Given the description of an element on the screen output the (x, y) to click on. 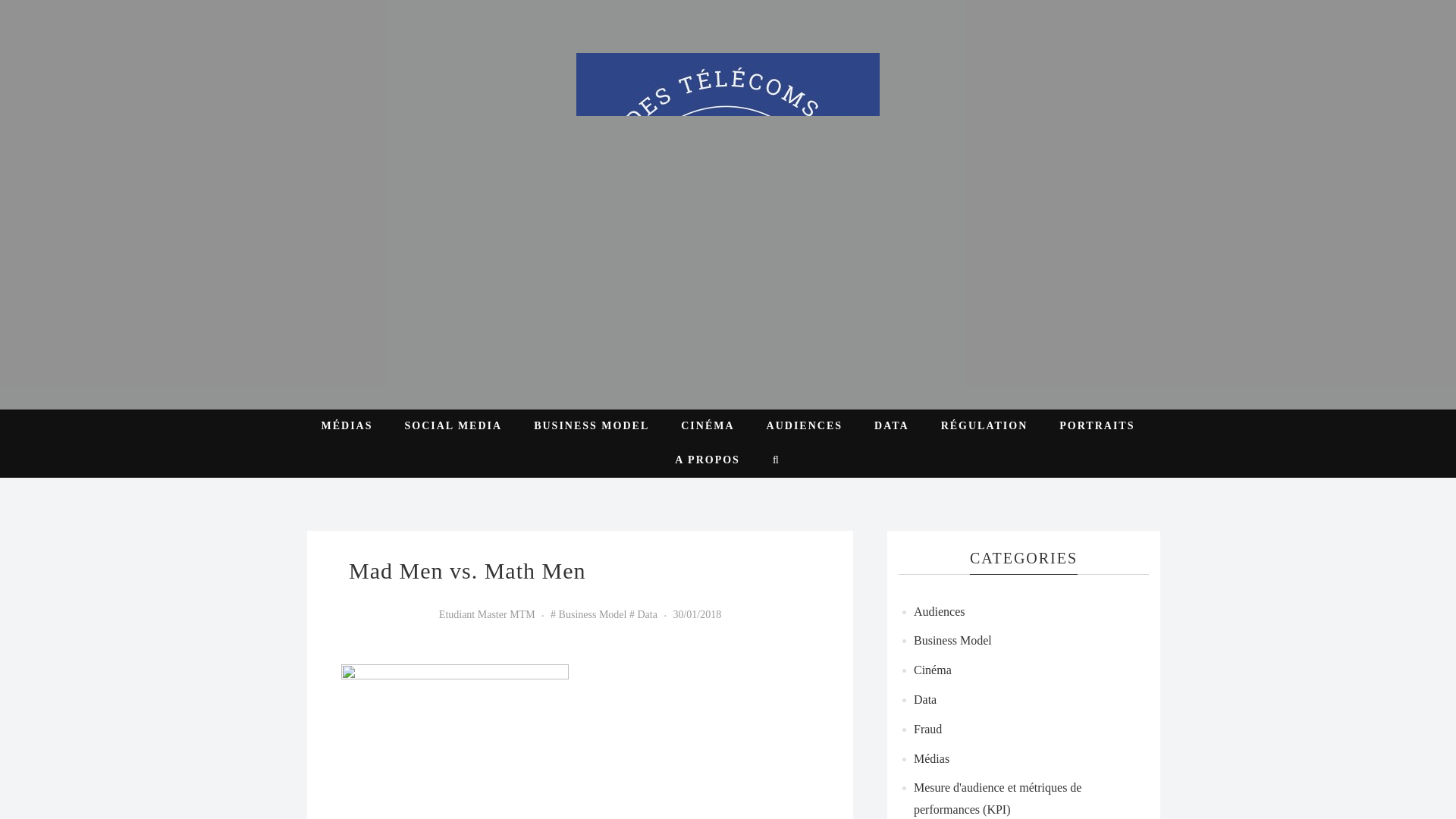
Fraud (928, 729)
DATA (891, 426)
Data (643, 614)
Audiences (939, 612)
View all posts in Data (643, 614)
Etudiant Master MTM (487, 614)
PORTRAITS (1096, 426)
A PROPOS (707, 460)
View all posts in Business Model (588, 614)
BUSINESS MODEL (590, 426)
Data (925, 699)
Business Model (588, 614)
SOCIAL MEDIA (454, 426)
Business Model (952, 641)
AUDIENCES (804, 426)
